Given the description of an element on the screen output the (x, y) to click on. 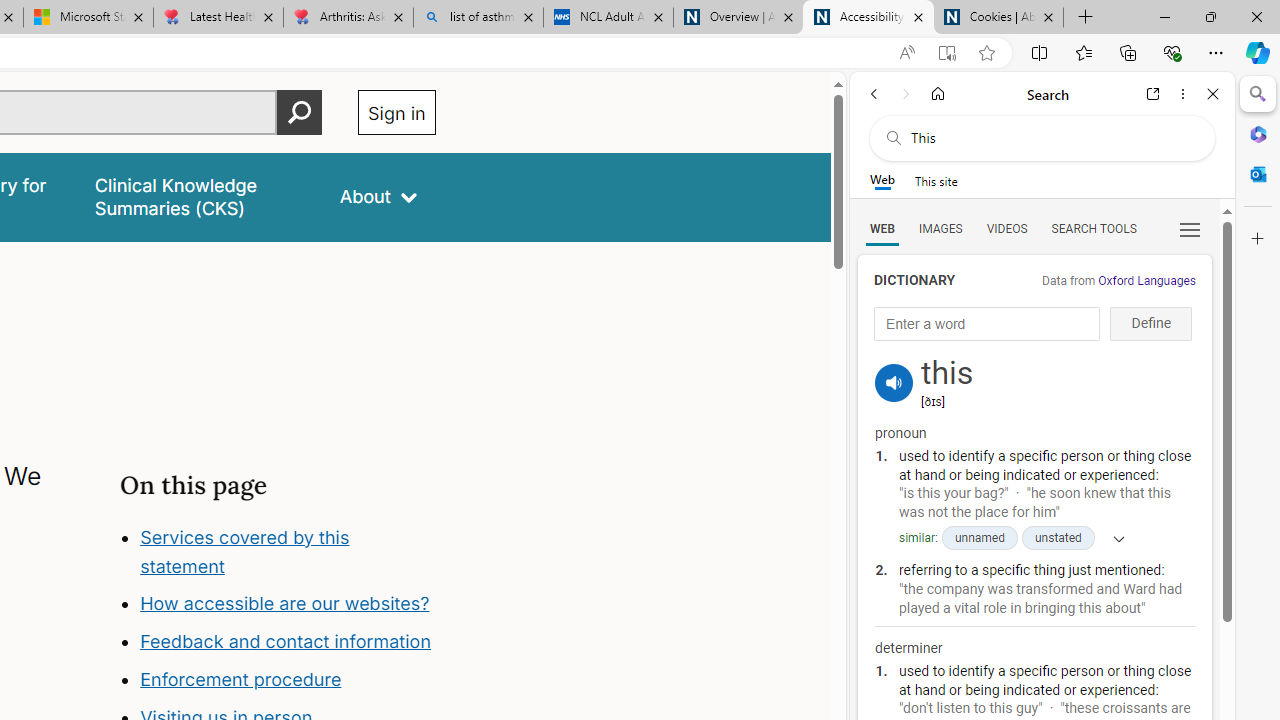
unnamed (978, 538)
Link for logging (893, 359)
WEB   (882, 228)
Oxford Languages (1146, 281)
Define (1150, 323)
Services covered by this statement (244, 551)
